Given the description of an element on the screen output the (x, y) to click on. 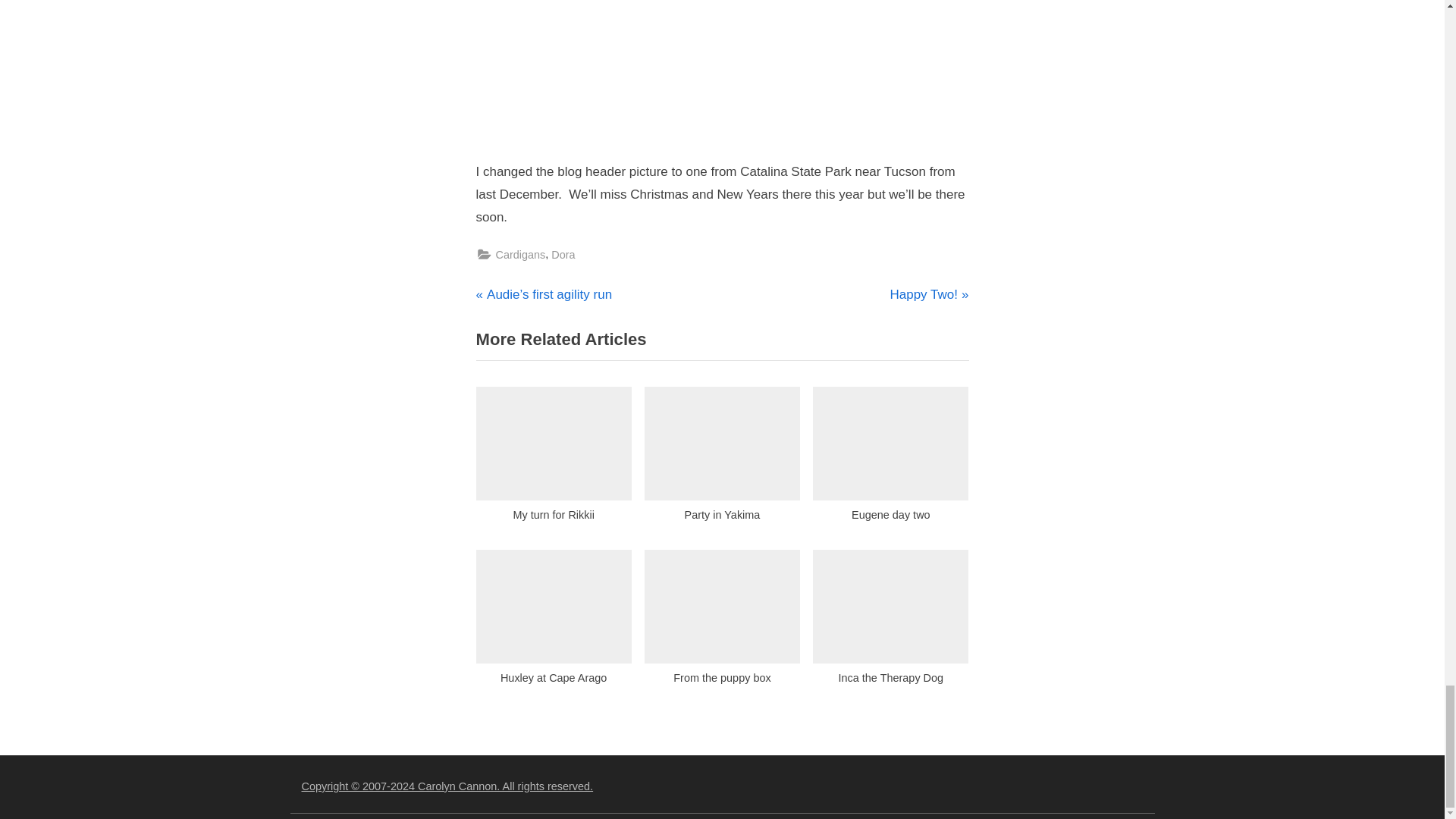
Dora (928, 294)
My turn for Rikkii (563, 254)
Cardigans (553, 458)
